Given the description of an element on the screen output the (x, y) to click on. 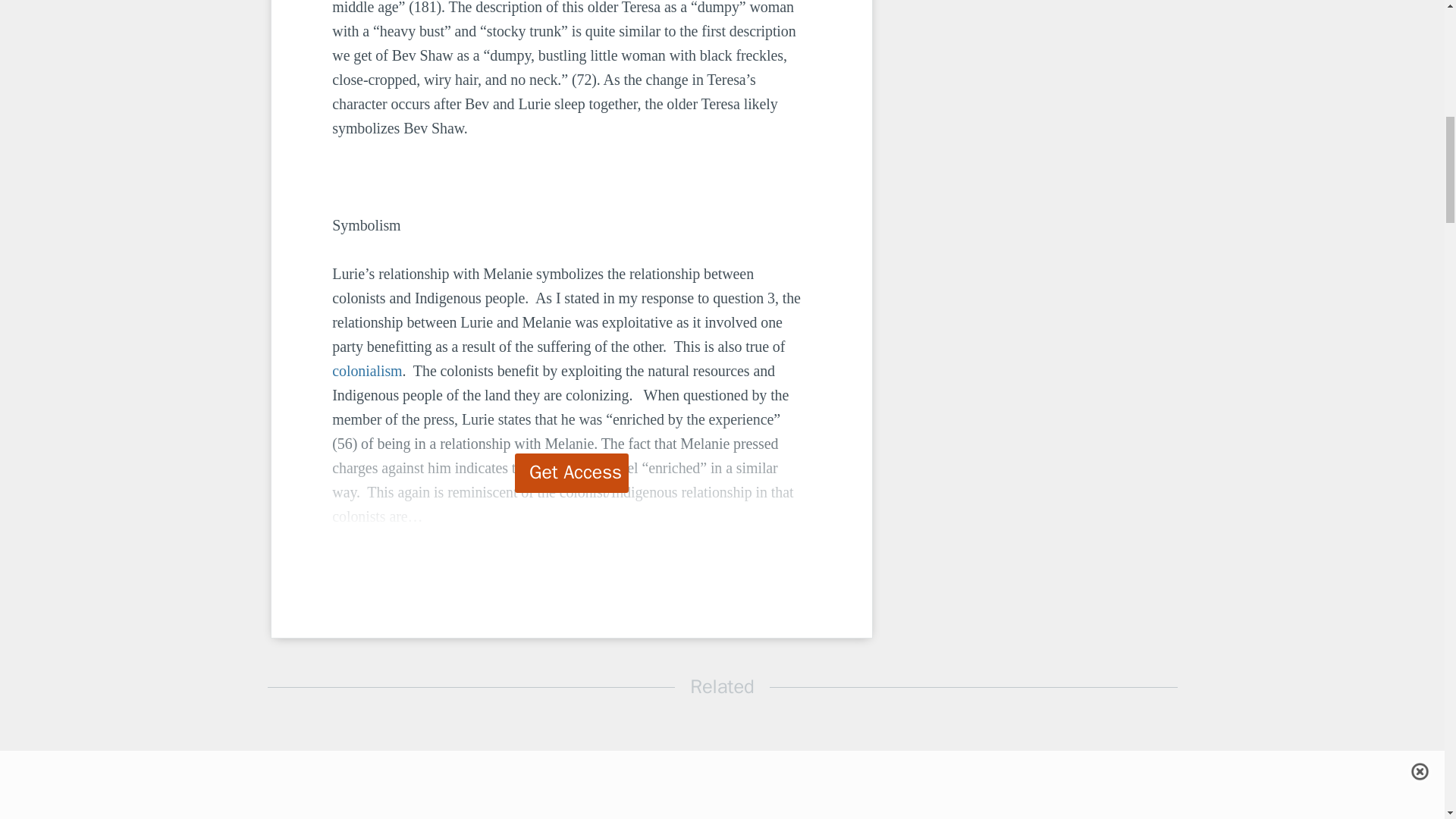
colonialism (366, 370)
Get Access (571, 473)
